Given the description of an element on the screen output the (x, y) to click on. 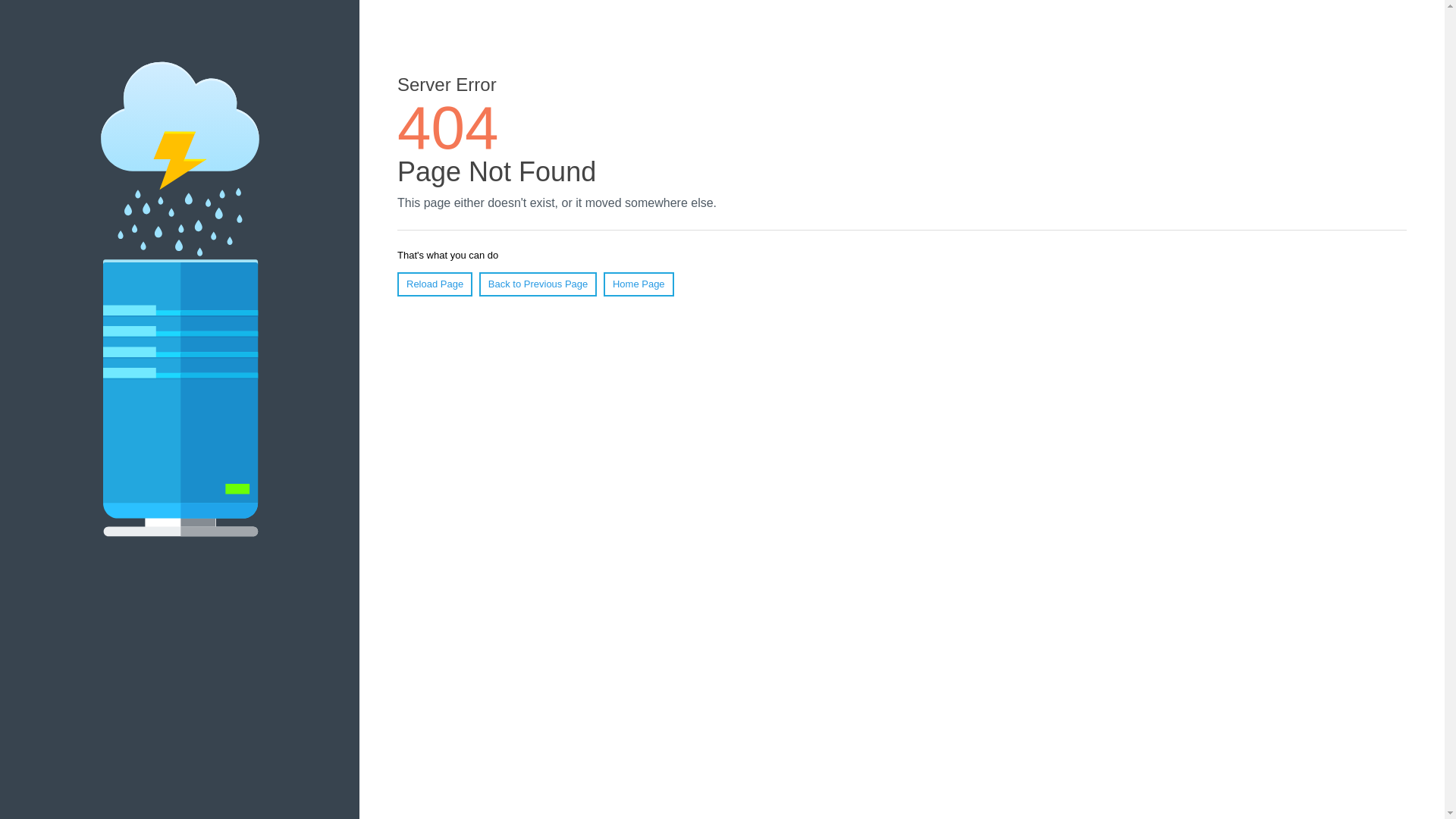
Home Page Element type: text (638, 284)
Back to Previous Page Element type: text (538, 284)
Reload Page Element type: text (434, 284)
